Given the description of an element on the screen output the (x, y) to click on. 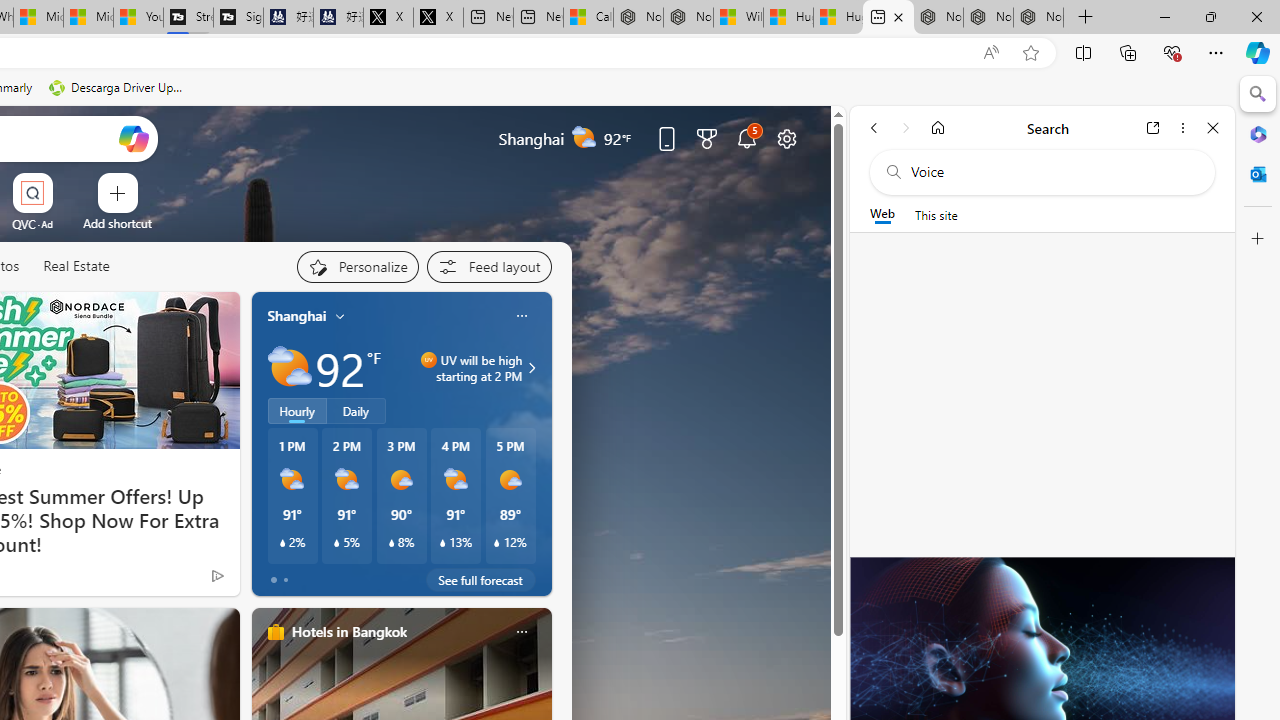
Huge shark washes ashore at New York City beach | Watch (838, 17)
Forward (906, 127)
My location (340, 315)
More options (1182, 127)
tab-1 (285, 579)
Partly sunny (289, 368)
